Given the description of an element on the screen output the (x, y) to click on. 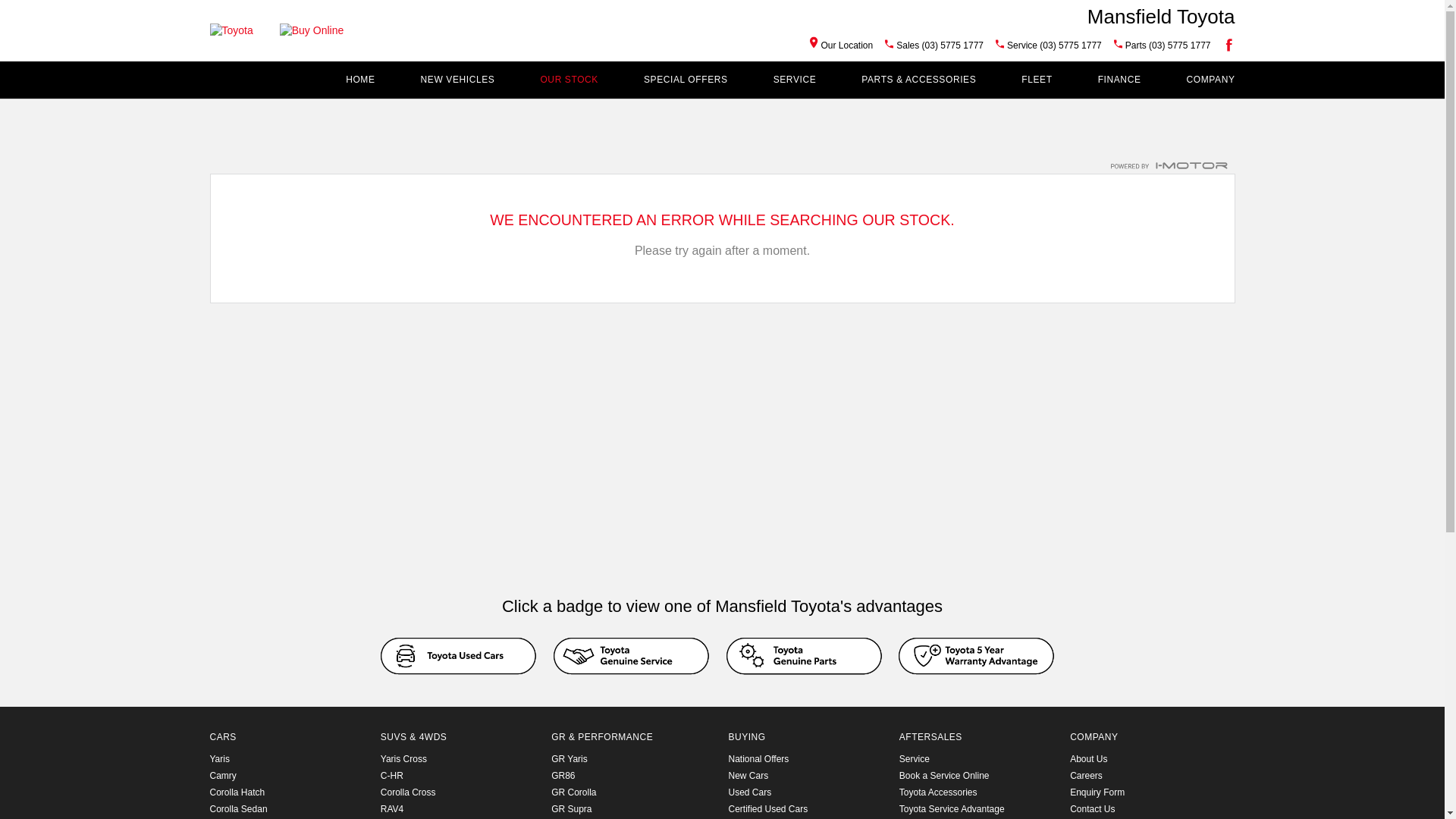
GR86 Element type: text (562, 775)
Careers Element type: text (1149, 775)
Yaris Cross Element type: text (403, 758)
Corolla Hatch Element type: text (236, 792)
Enquiry Form Element type: text (1149, 792)
Certified Used Cars Element type: text (807, 808)
SPECIAL OFFERS Element type: text (685, 80)
Service (03) 5775 1777 Element type: text (1054, 45)
Facebook Element type: text (1225, 44)
GR Corolla Element type: text (573, 792)
Sales (03) 5775 1777 Element type: text (939, 45)
Contact Us Element type: text (1149, 808)
OUR STOCK Element type: text (568, 80)
FLEET Element type: text (1036, 80)
Service Element type: text (978, 758)
Mansfield Toyota Element type: text (1161, 15)
FINANCE Element type: text (1119, 80)
NEW VEHICLES Element type: text (457, 80)
C-HR Element type: text (391, 775)
Corolla Cross Element type: text (408, 792)
Toyota Accessories Element type: text (978, 792)
Yaris Element type: text (219, 758)
Camry Element type: text (222, 775)
Corolla Sedan Element type: text (237, 808)
HOME Element type: text (359, 80)
GR Yaris Element type: text (569, 758)
Parts (03) 5775 1777 Element type: text (1168, 45)
New Cars Element type: text (807, 775)
Our Location Element type: text (841, 45)
COMPANY Element type: text (1210, 80)
SERVICE Element type: text (794, 80)
About Us Element type: text (1149, 758)
National Offers Element type: text (807, 758)
Book a Service Online Element type: text (978, 775)
RAV4 Element type: text (391, 808)
Toyota Service Advantage Element type: text (978, 808)
Used Cars Element type: text (807, 792)
GR Supra Element type: text (571, 808)
PARTS & ACCESSORIES Element type: text (918, 80)
